Given the description of an element on the screen output the (x, y) to click on. 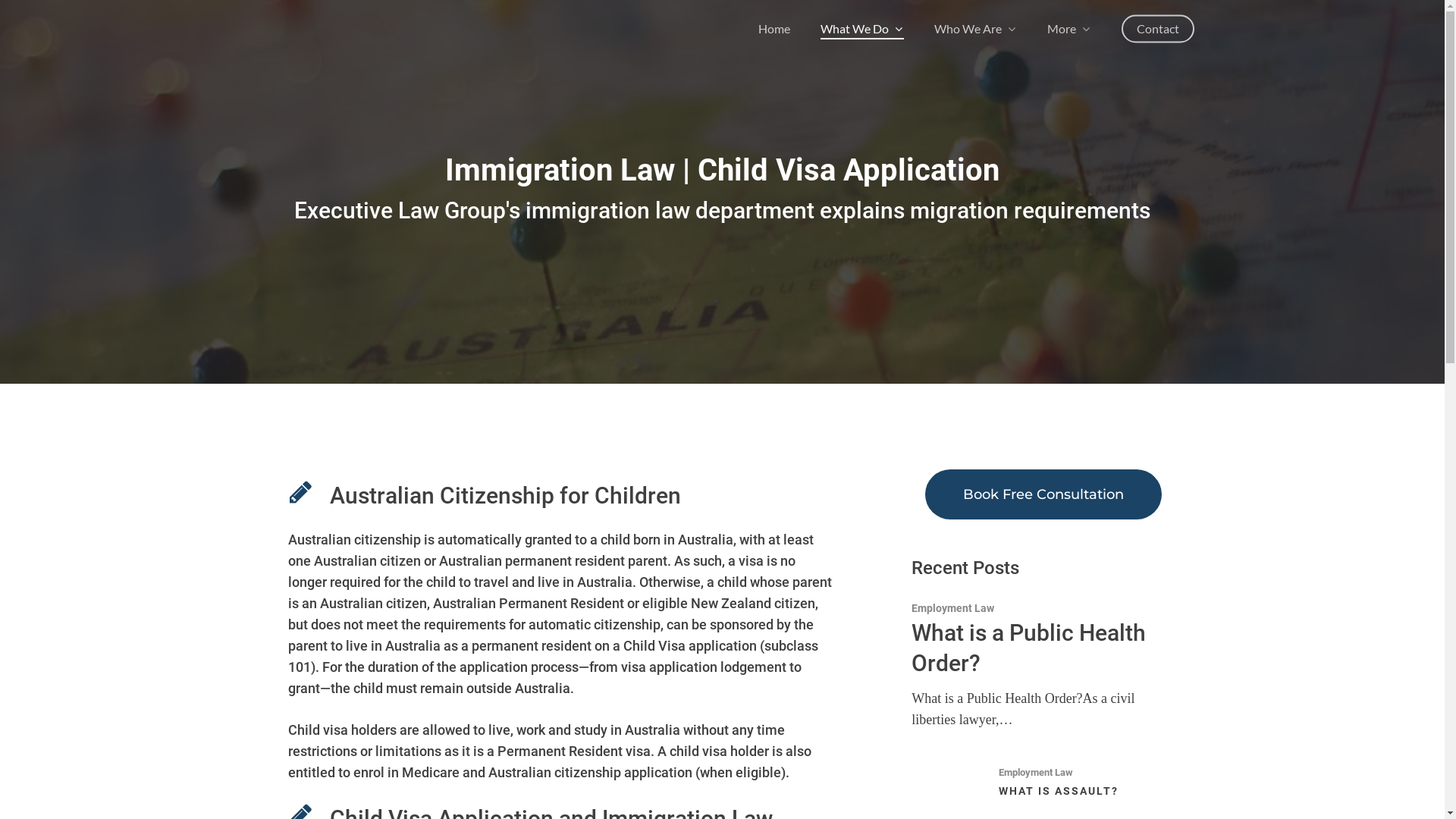
Employment Law Element type: text (1035, 772)
Home Element type: text (774, 28)
What is a Public Health Order? Element type: text (1028, 647)
More Element type: text (1069, 28)
What We Do Element type: text (861, 28)
Who We Are Element type: text (975, 28)
Contact Element type: text (1157, 28)
Employment Law Element type: text (952, 608)
Book Free Consultation Element type: text (1043, 494)
WHAT IS ASSAULT? Element type: text (1058, 790)
